Given the description of an element on the screen output the (x, y) to click on. 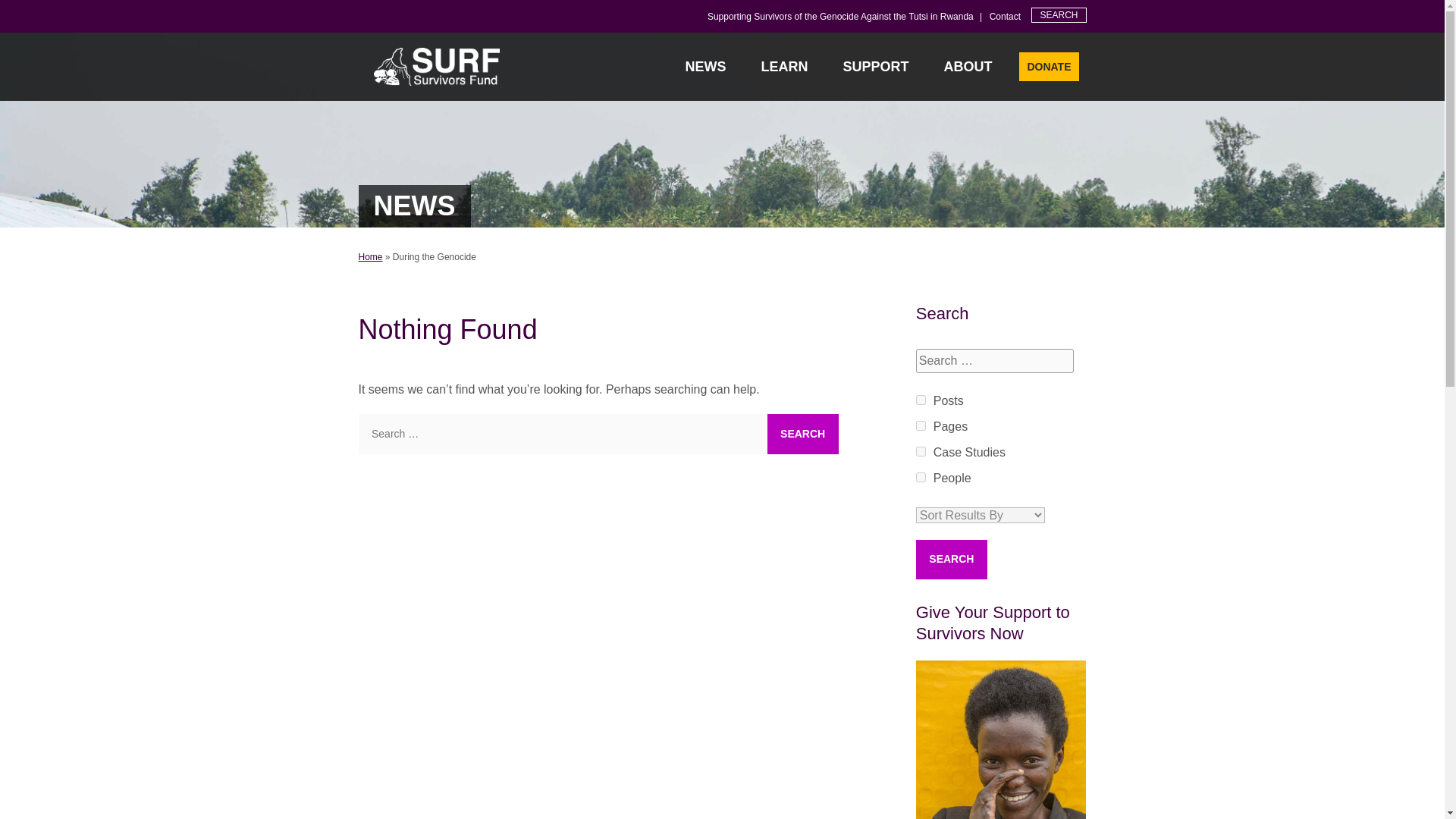
Contact (1005, 16)
page (920, 424)
Search (1038, 192)
LEARN (786, 66)
Search (802, 434)
SUPPORT (877, 66)
post (920, 398)
NEWS (707, 66)
Search (951, 559)
